Given the description of an element on the screen output the (x, y) to click on. 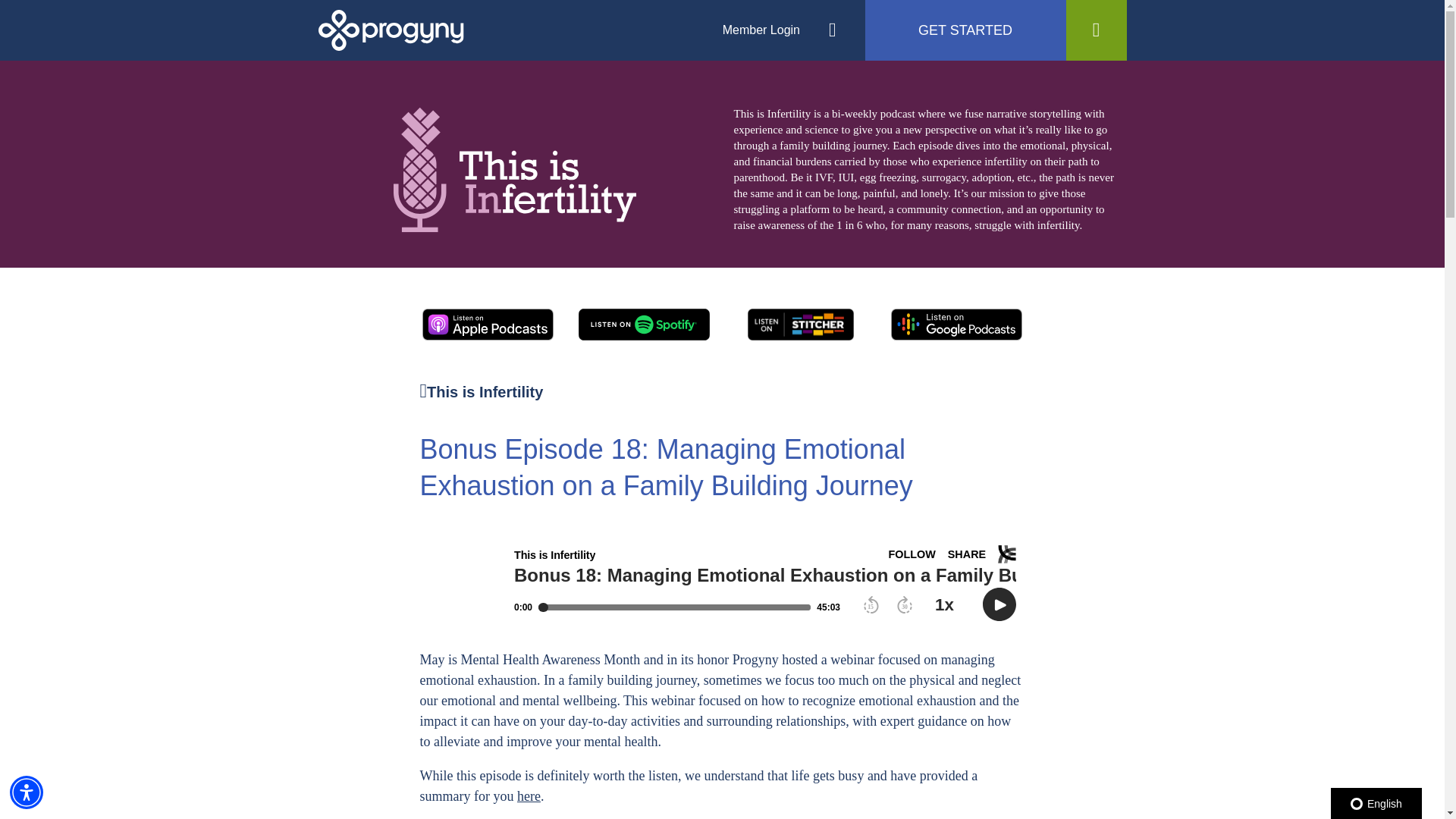
Embed Player (722, 582)
Accessibility Menu (26, 792)
GET STARTED (964, 30)
Progyny (391, 29)
Member Login (760, 29)
